Given the description of an element on the screen output the (x, y) to click on. 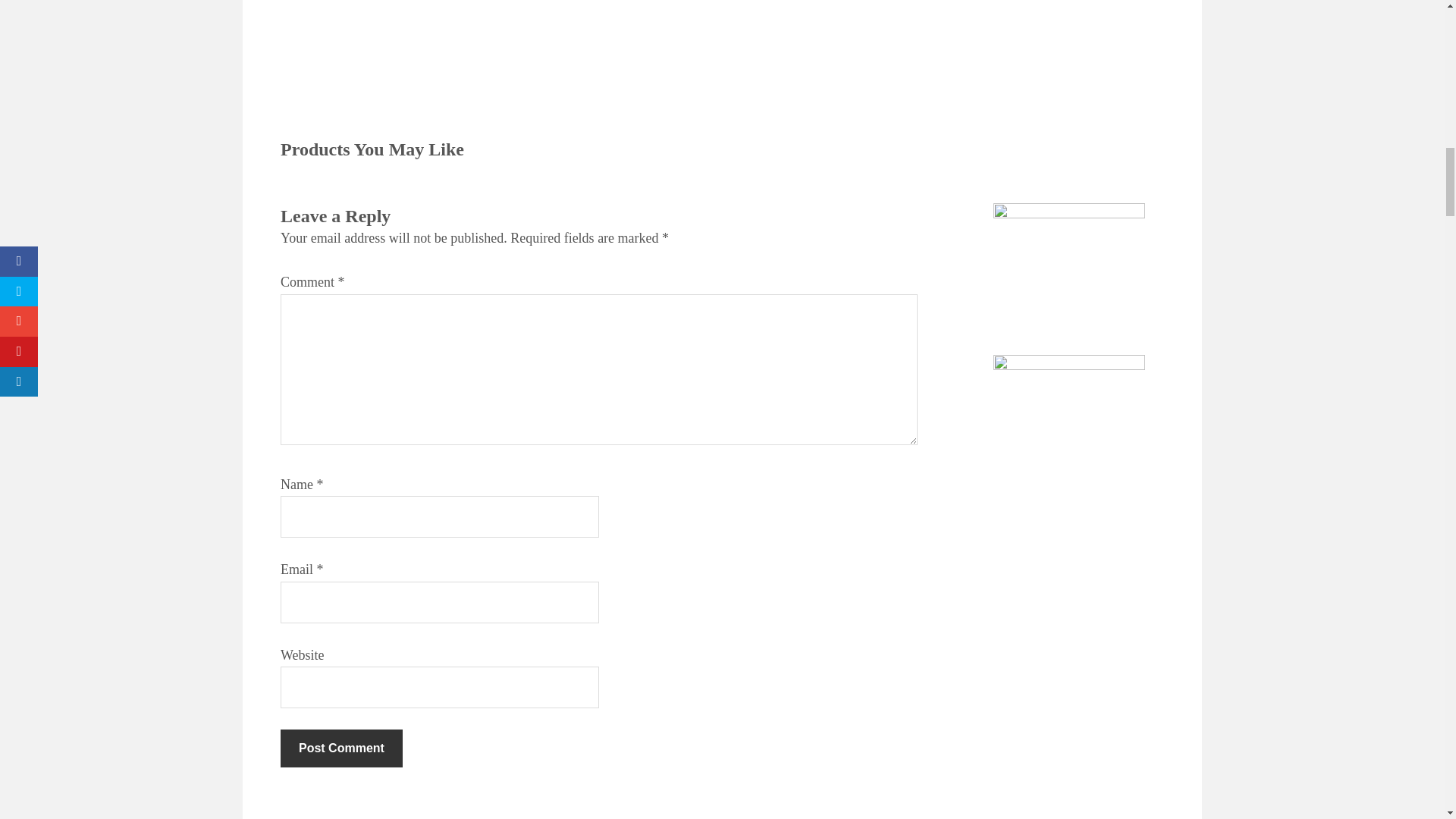
Post Comment (342, 748)
